Given the description of an element on the screen output the (x, y) to click on. 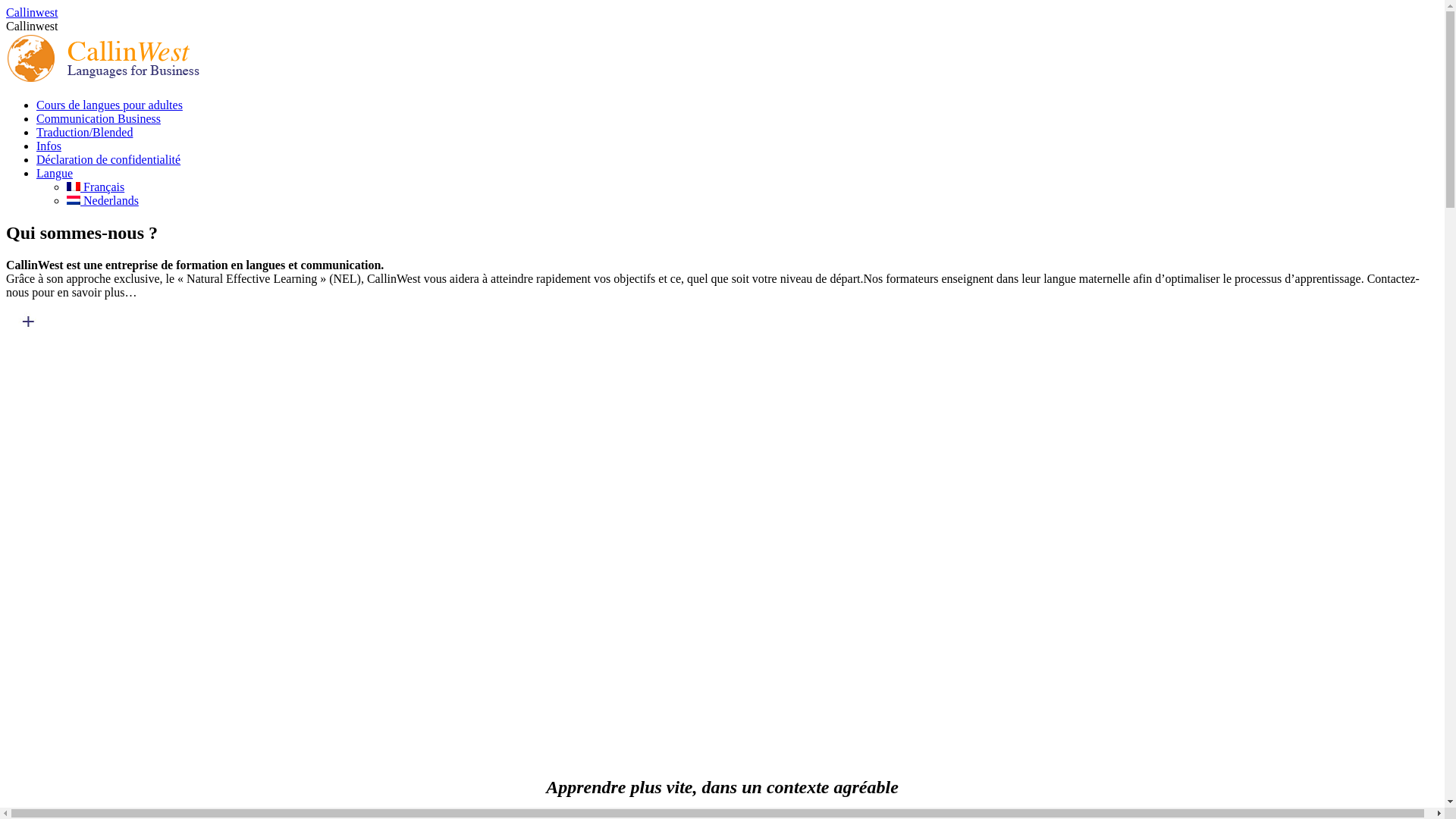
Cours de langues pour adultes Element type: text (109, 104)
Callinwest Element type: text (31, 12)
Communication Business Element type: text (98, 118)
Traduction/Blended Element type: text (84, 131)
Langue Element type: text (54, 172)
 Nederlands Element type: text (102, 200)
Infos Element type: text (48, 145)
